Given the description of an element on the screen output the (x, y) to click on. 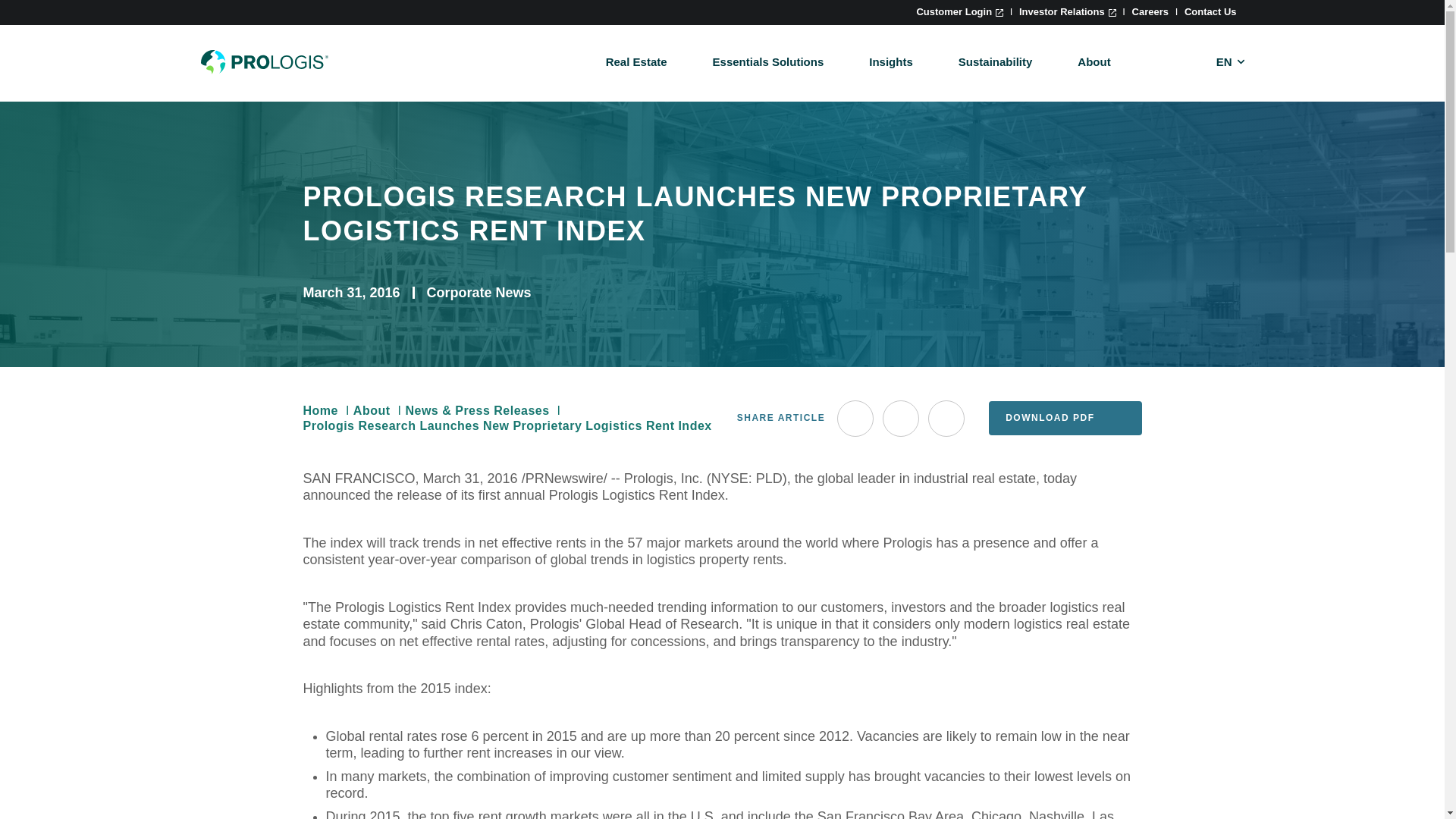
Contact Us (1210, 11)
Login to Prologis Essentials (959, 11)
Investor Relations (1067, 11)
Real Estate (635, 61)
Home (263, 62)
Customer Login (959, 11)
Insights (890, 61)
Sustainability (995, 61)
Contact Us (1210, 11)
Careers (1150, 11)
About (1093, 61)
Careers (1150, 11)
Essentials Solutions (768, 61)
Real Estate (635, 61)
